Given the description of an element on the screen output the (x, y) to click on. 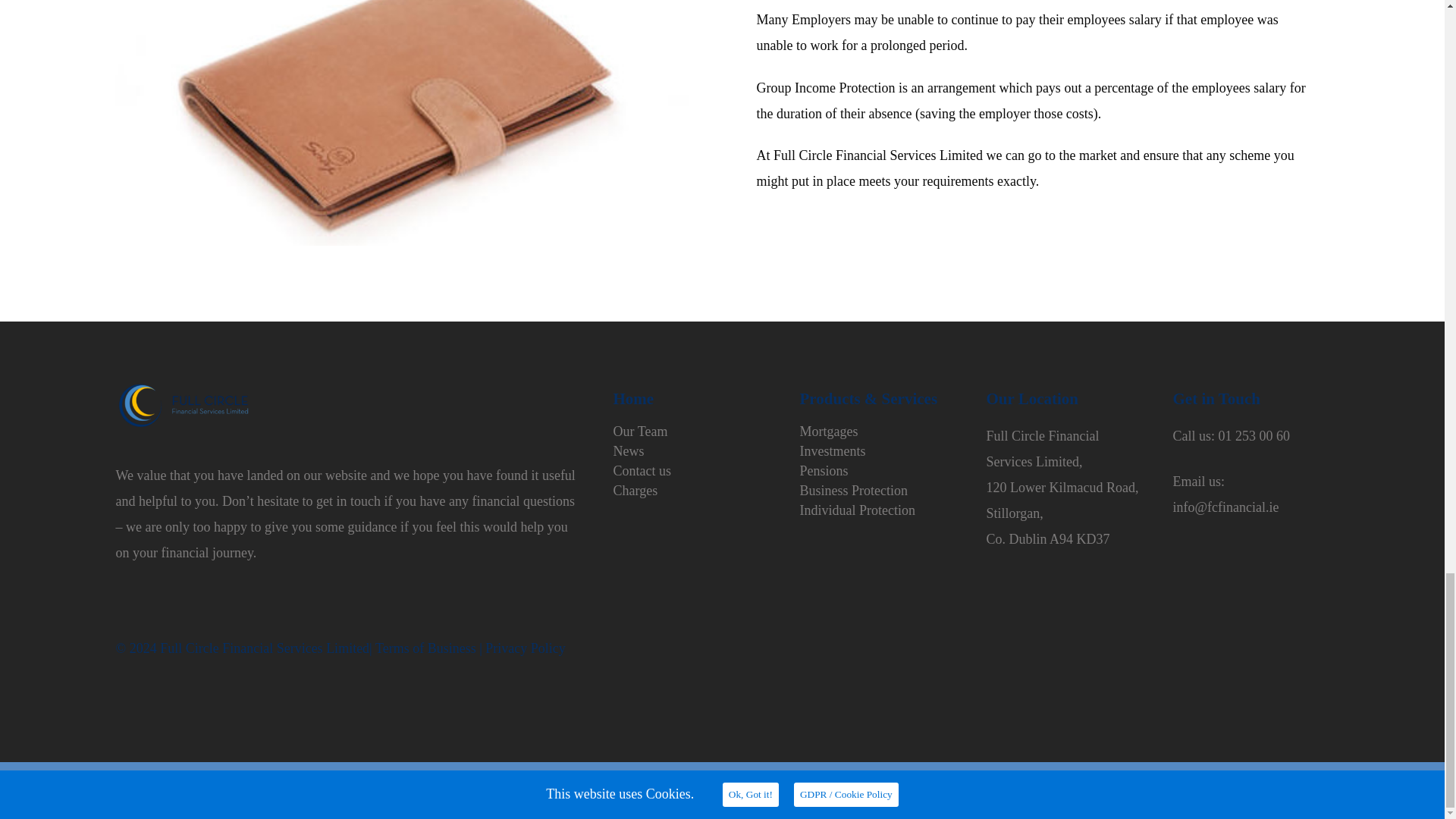
Privacy Policy (525, 648)
Mortgages (828, 431)
Contact us (641, 470)
Terms of Business (425, 648)
Charges (635, 490)
Investments (831, 450)
Pensions (823, 470)
Privacy Policy (525, 648)
News (627, 450)
Business Protection (853, 490)
Terms of Business (425, 648)
Individual Protection (856, 509)
Our Team (639, 431)
